Given the description of an element on the screen output the (x, y) to click on. 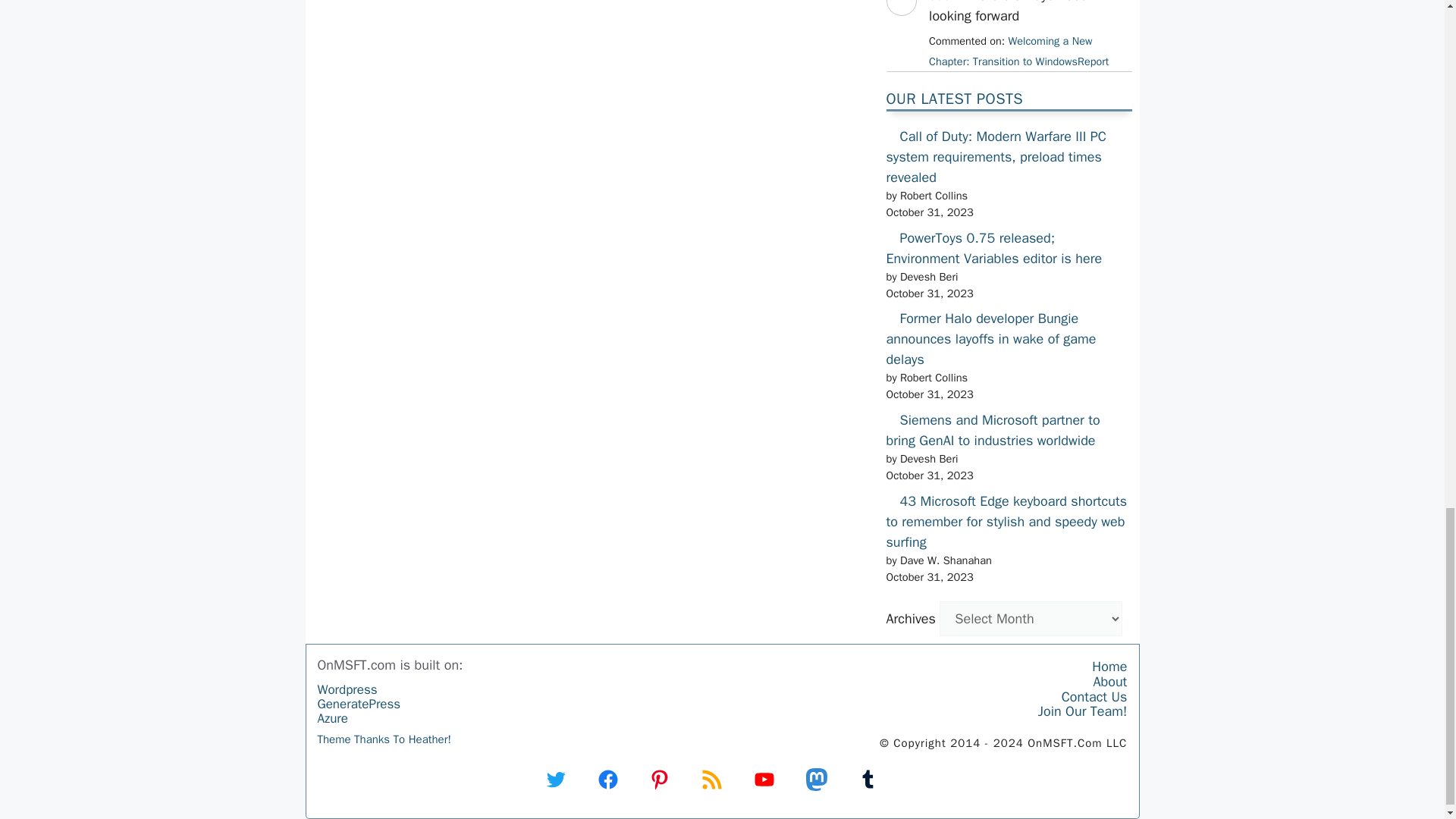
May 20, 2024 (1018, 50)
sathvik (900, 29)
